Given the description of an element on the screen output the (x, y) to click on. 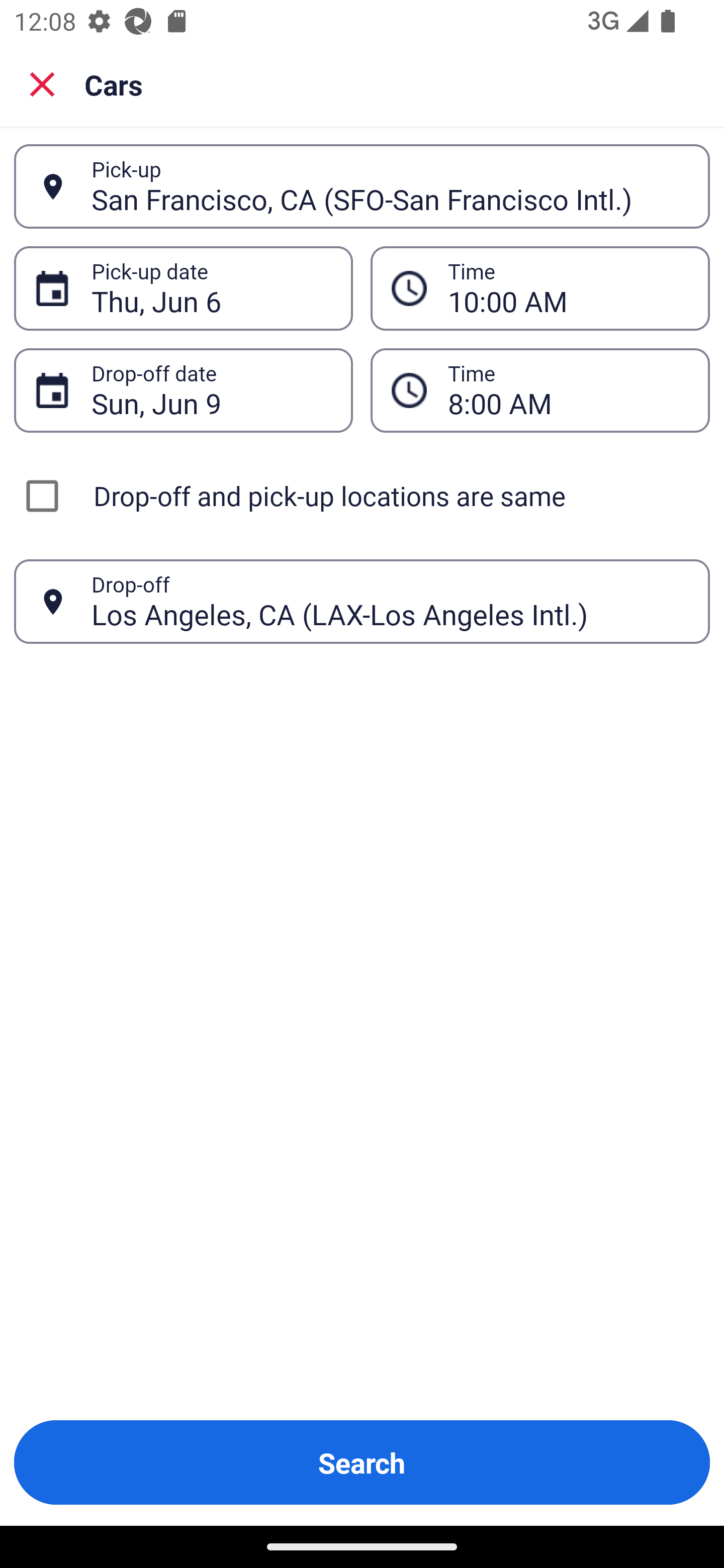
Close search screen (42, 84)
San Francisco, CA (SFO-San Francisco Intl.) (389, 186)
Thu, Jun 6 (211, 288)
10:00 AM (568, 288)
Sun, Jun 9 (211, 390)
8:00 AM (568, 390)
Drop-off and pick-up locations are same (361, 495)
Los Angeles, CA (LAX-Los Angeles Intl.) (389, 601)
Search Button Search (361, 1462)
